Given the description of an element on the screen output the (x, y) to click on. 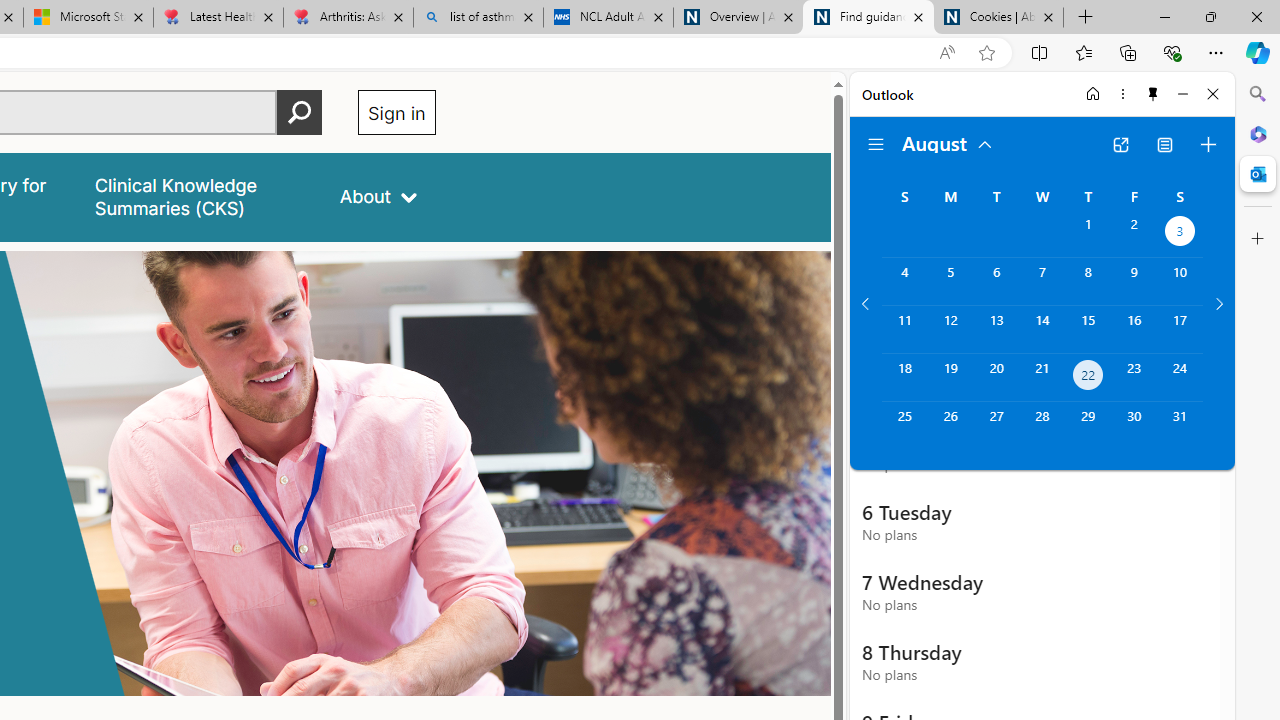
Monday, August 26, 2024.  (950, 425)
